Given the description of an element on the screen output the (x, y) to click on. 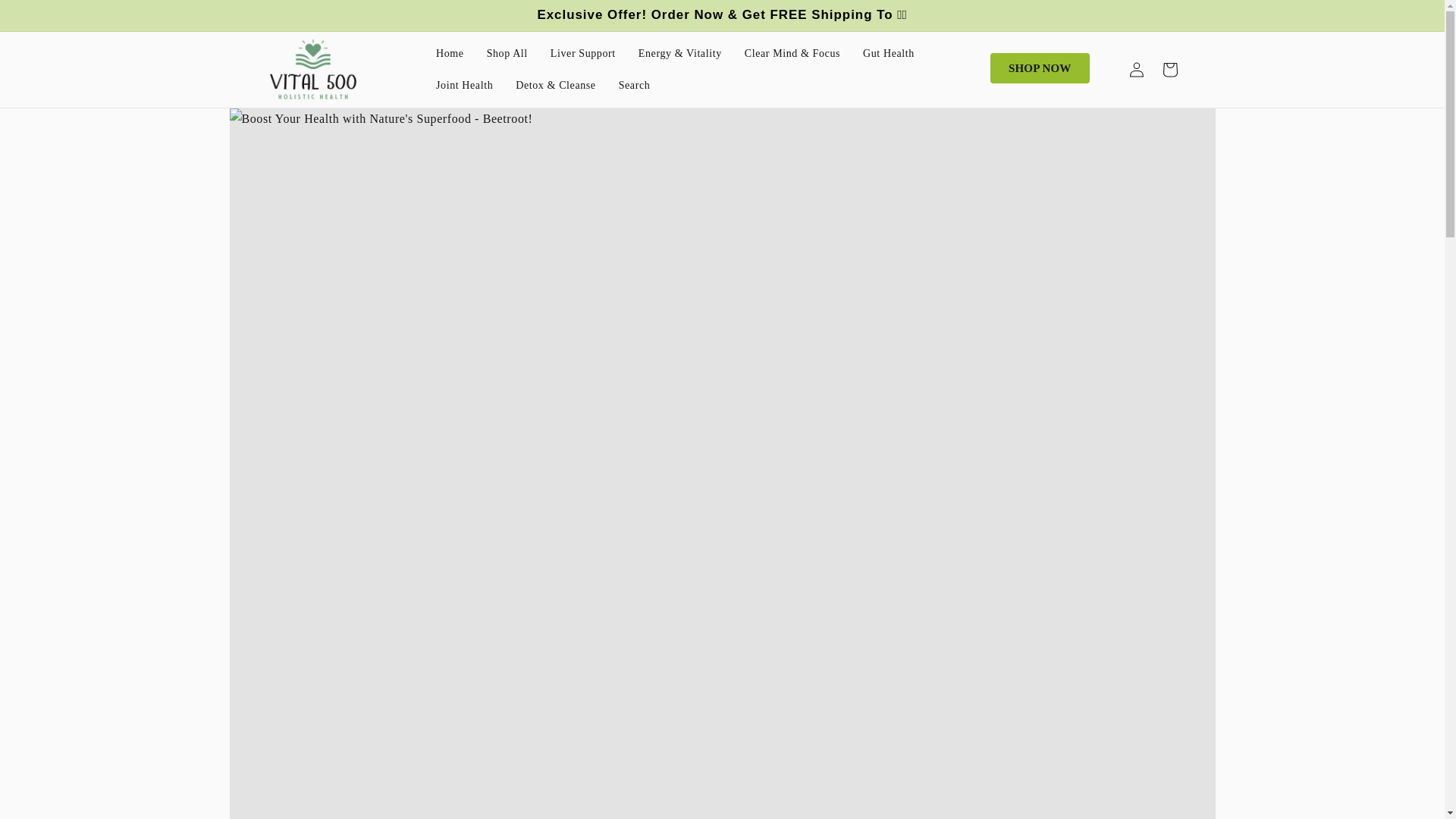
Gut Health (888, 53)
Home (450, 53)
Search (634, 85)
Log in (1136, 69)
Shop All (507, 53)
Joint Health (464, 85)
Liver Support (582, 53)
Cart (1169, 69)
SKIP TO CONTENT (45, 14)
SHOP NOW (1039, 68)
